Given the description of an element on the screen output the (x, y) to click on. 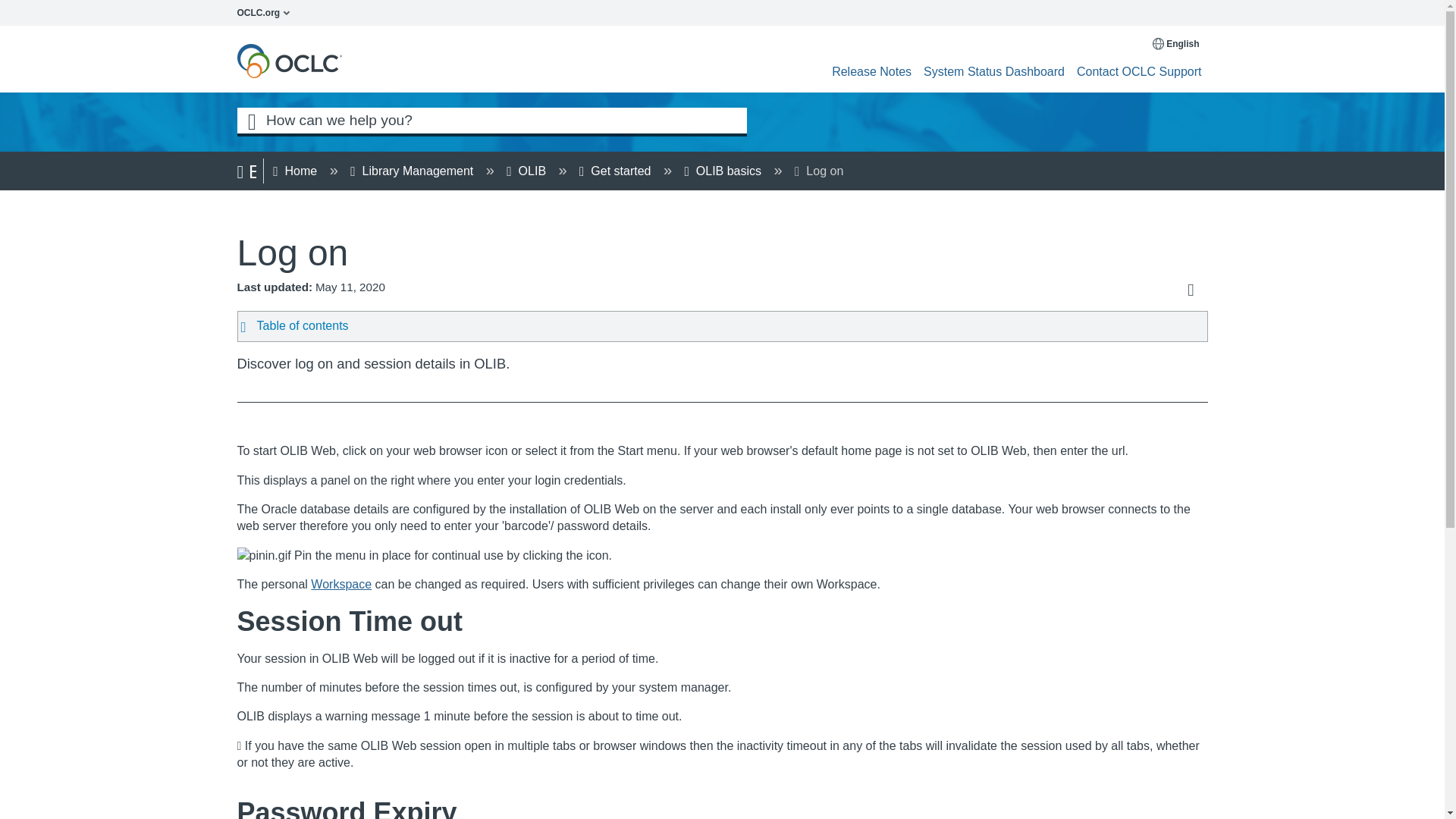
Find release notes for OCLC products and services. (871, 71)
OLIB basics (724, 170)
English (1177, 43)
OLIB (527, 170)
Table of contents (698, 325)
Contact OCLC Support (1139, 71)
System Status Dashboard (993, 71)
Search (250, 120)
OCLC.org Home (266, 12)
Home (296, 170)
Release Notes (871, 71)
Get started (616, 170)
OCLC.org (266, 12)
Workspace (341, 584)
Library Management (413, 170)
